Given the description of an element on the screen output the (x, y) to click on. 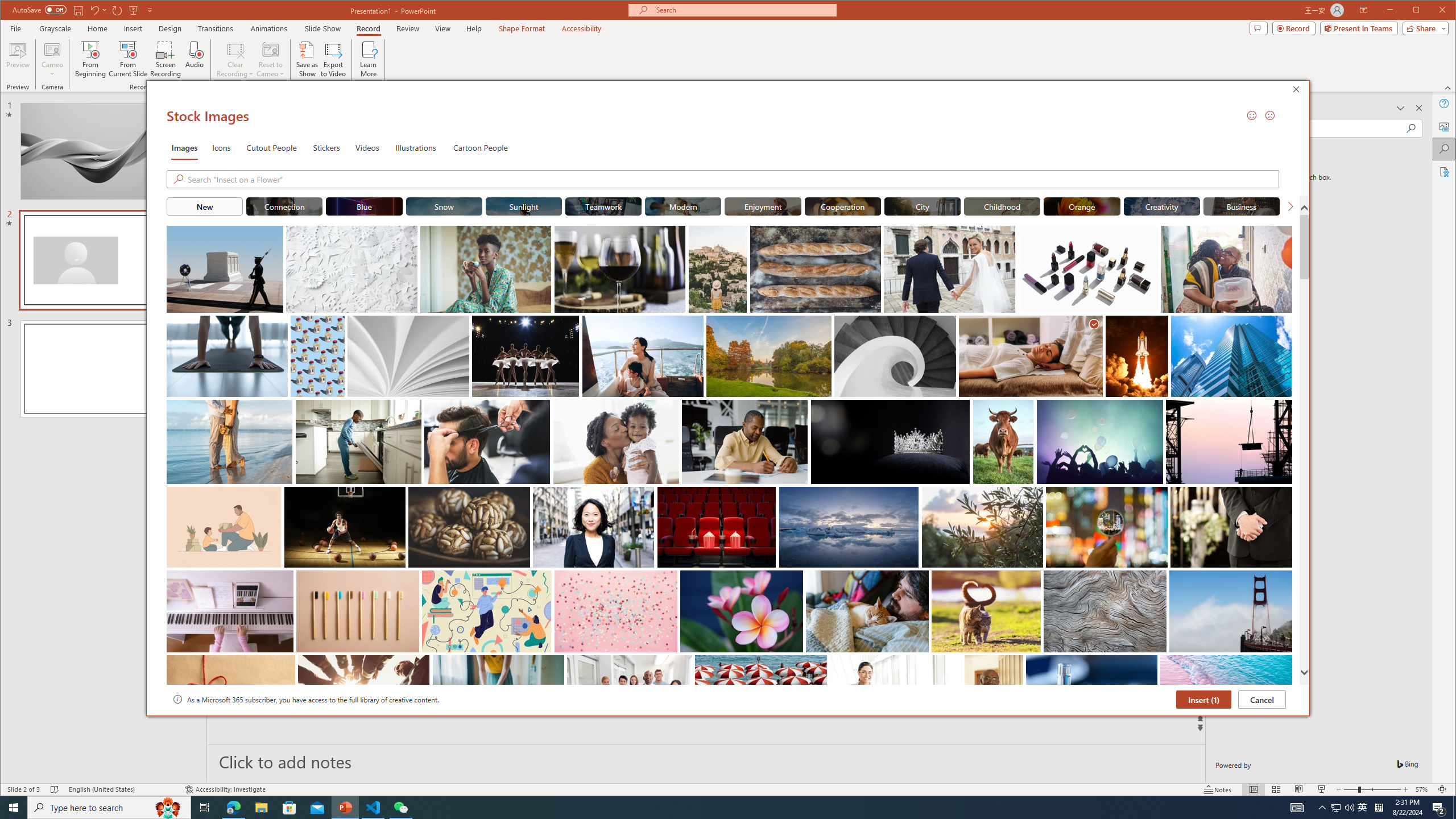
"Business" Stock Images. (1241, 206)
"New" Stock Images. (204, 206)
"Modern" Stock Images. (682, 206)
